Given the description of an element on the screen output the (x, y) to click on. 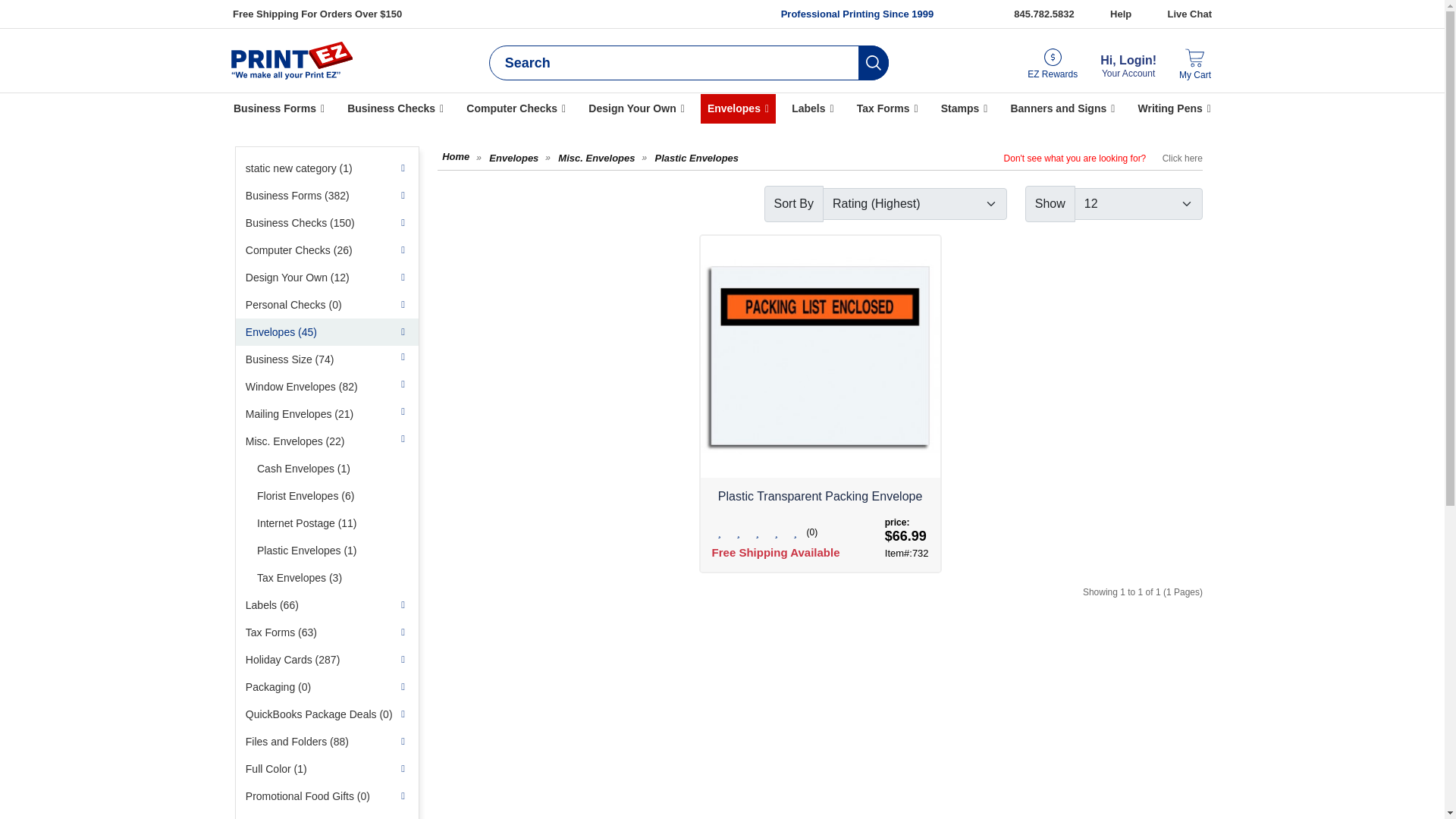
Help (1120, 13)
Plastic Transparent Packing Envelope (820, 355)
Live Chat (1189, 13)
EZ Rewards (1052, 64)
PrintEZ.com (291, 60)
845.782.5832 (1043, 13)
My Cart (1195, 65)
